Given the description of an element on the screen output the (x, y) to click on. 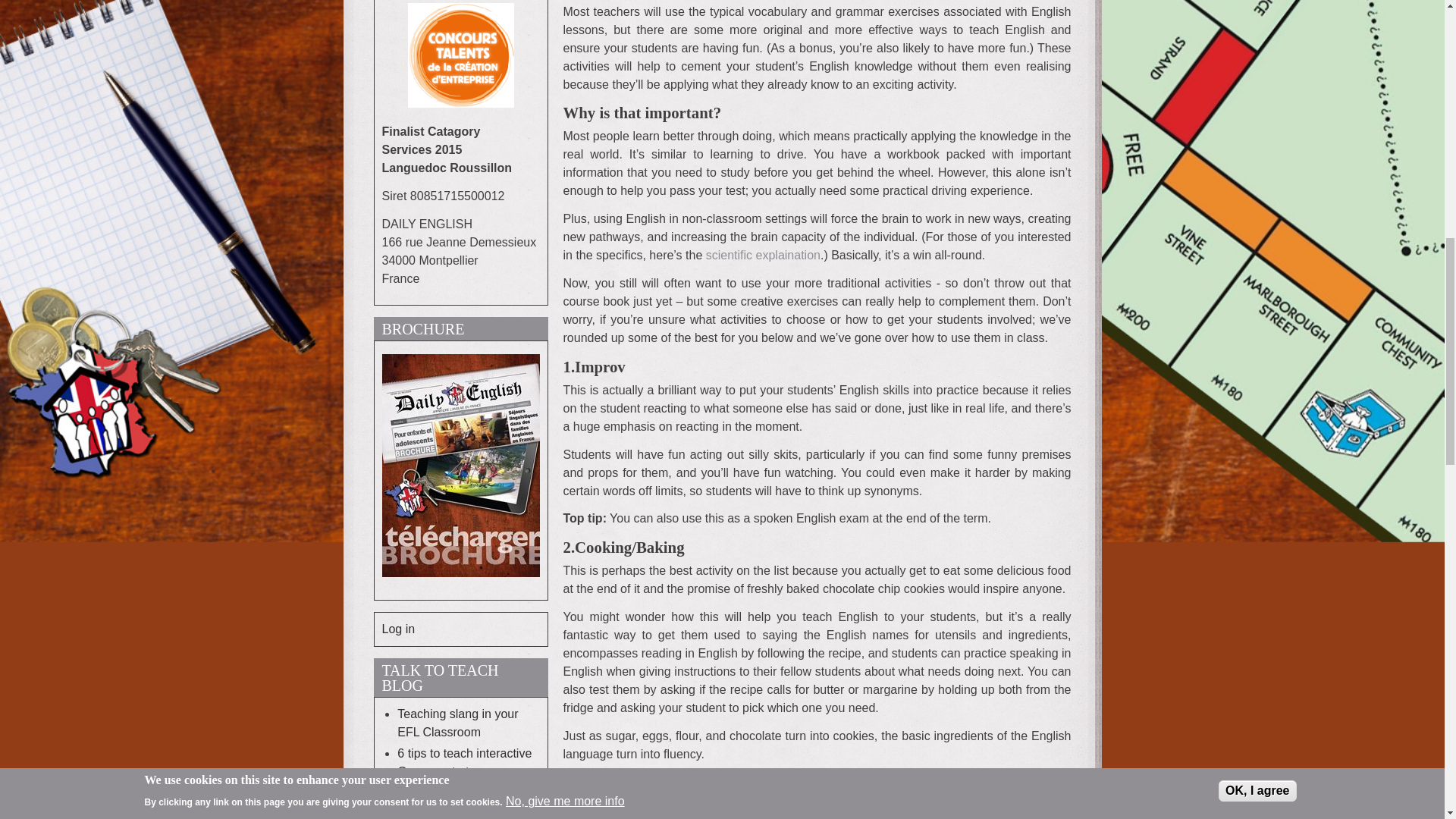
5 activities to teach English (448, 801)
scientific explaination (763, 254)
Teaching slang in your EFL Classroom (457, 722)
Log in (397, 628)
6 tips to teach interactive Grammar to teens (464, 762)
